Given the description of an element on the screen output the (x, y) to click on. 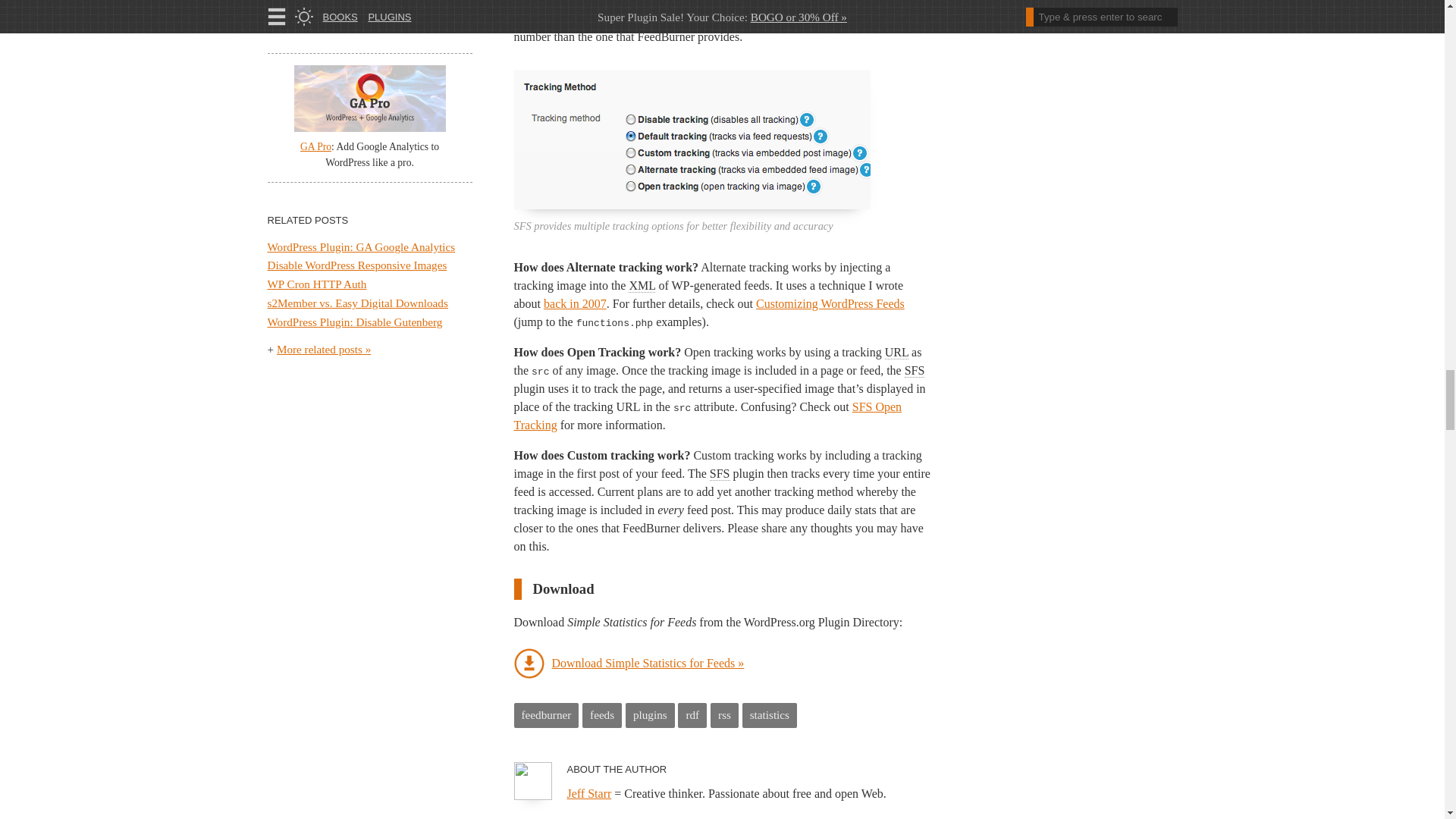
back in 2007 (575, 303)
SFS Open Tracking (707, 415)
Customizing WordPress Feeds (829, 303)
